Given the description of an element on the screen output the (x, y) to click on. 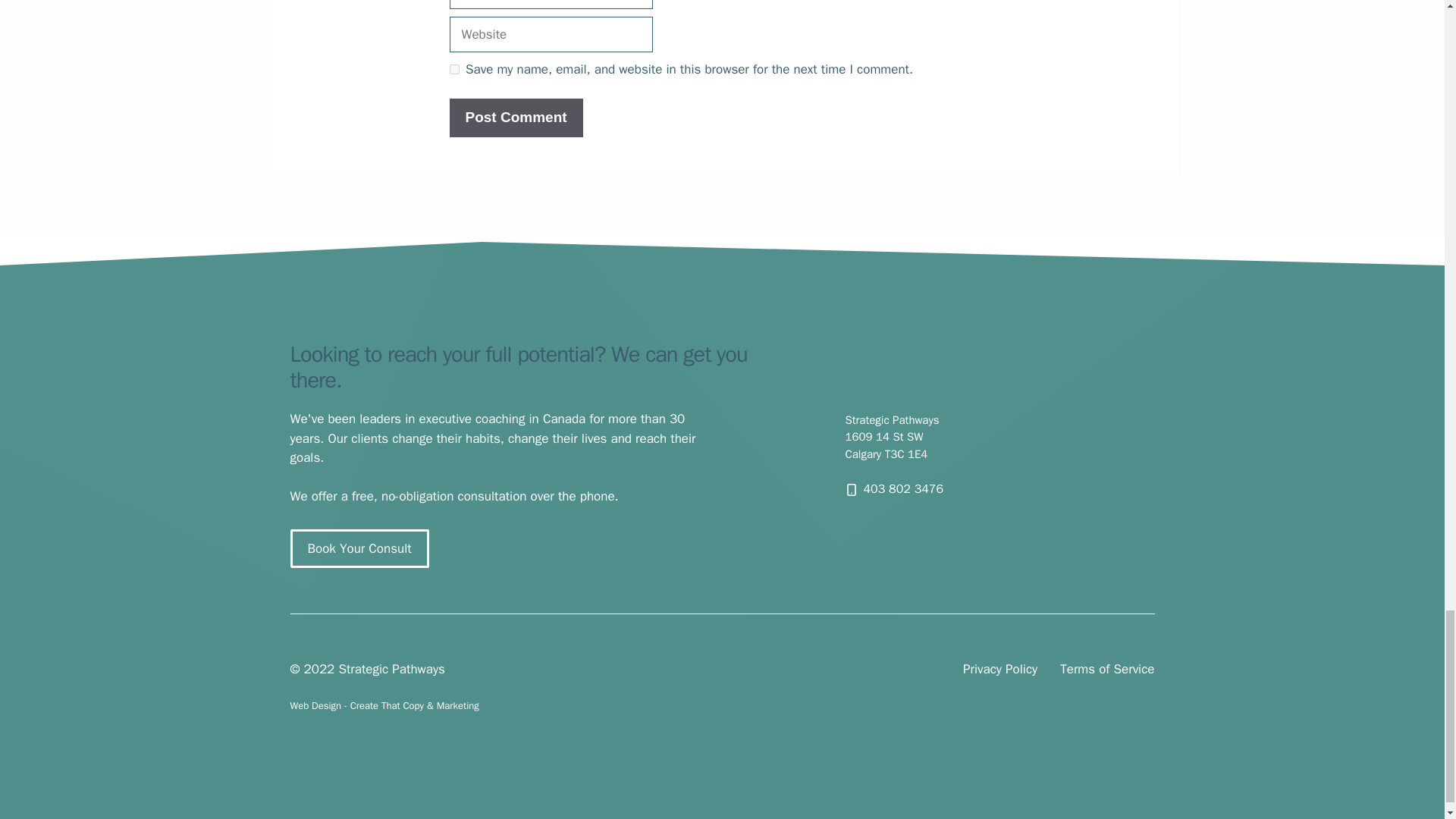
403 802 3477 (899, 488)
Post Comment (515, 117)
yes (453, 69)
Terms of Service (1106, 669)
Post Comment (515, 117)
Privacy Policy (999, 669)
403 802 347 (899, 488)
Book Your Consult (358, 548)
